Given the description of an element on the screen output the (x, y) to click on. 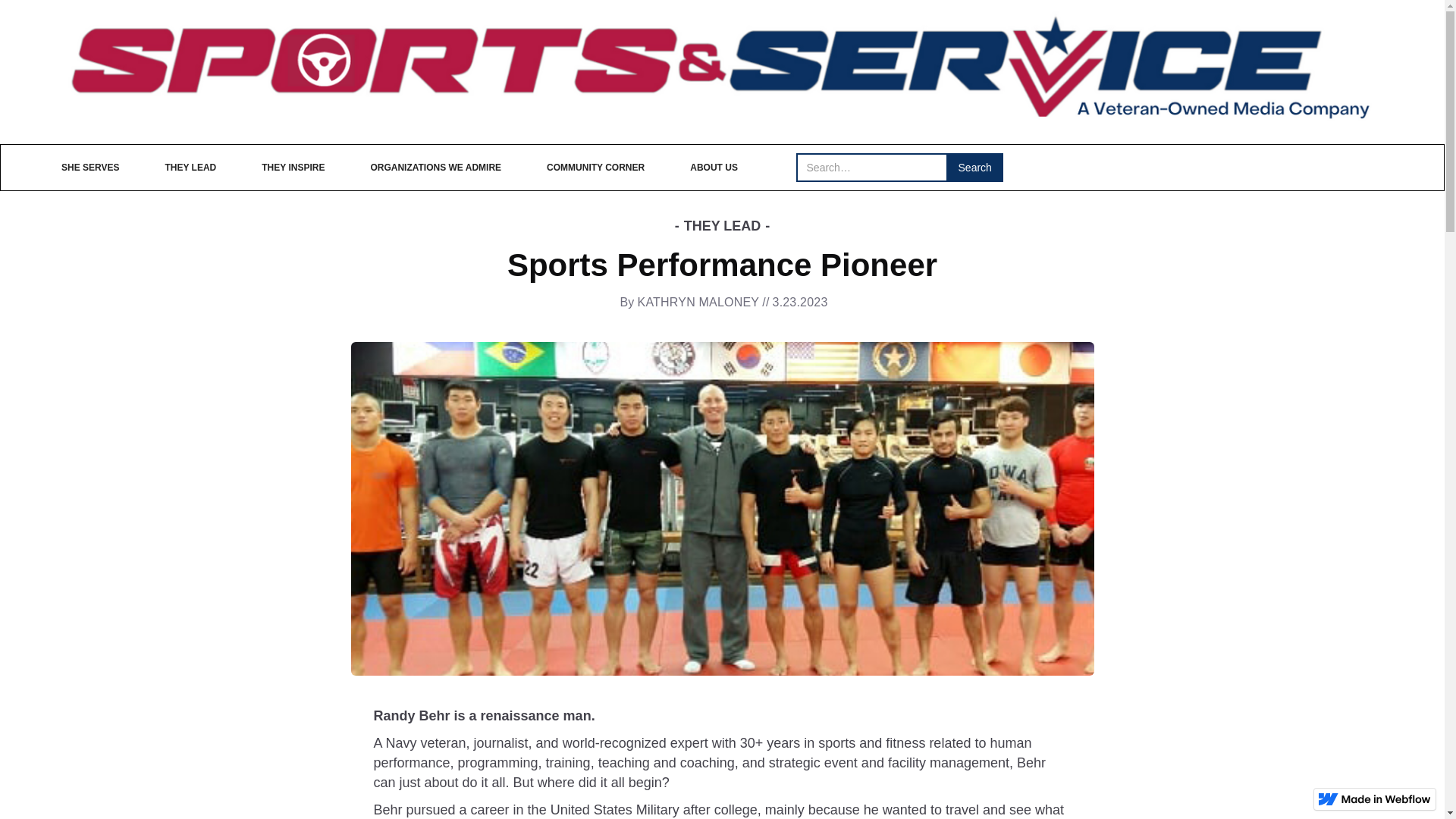
THEY INSPIRE (292, 167)
Search (975, 167)
THEY LEAD (190, 167)
SHE SERVES (89, 167)
Search (975, 167)
Search (975, 167)
COMMUNITY CORNER (595, 167)
ABOUT US (713, 167)
ORGANIZATIONS WE ADMIRE (435, 167)
